Given the description of an element on the screen output the (x, y) to click on. 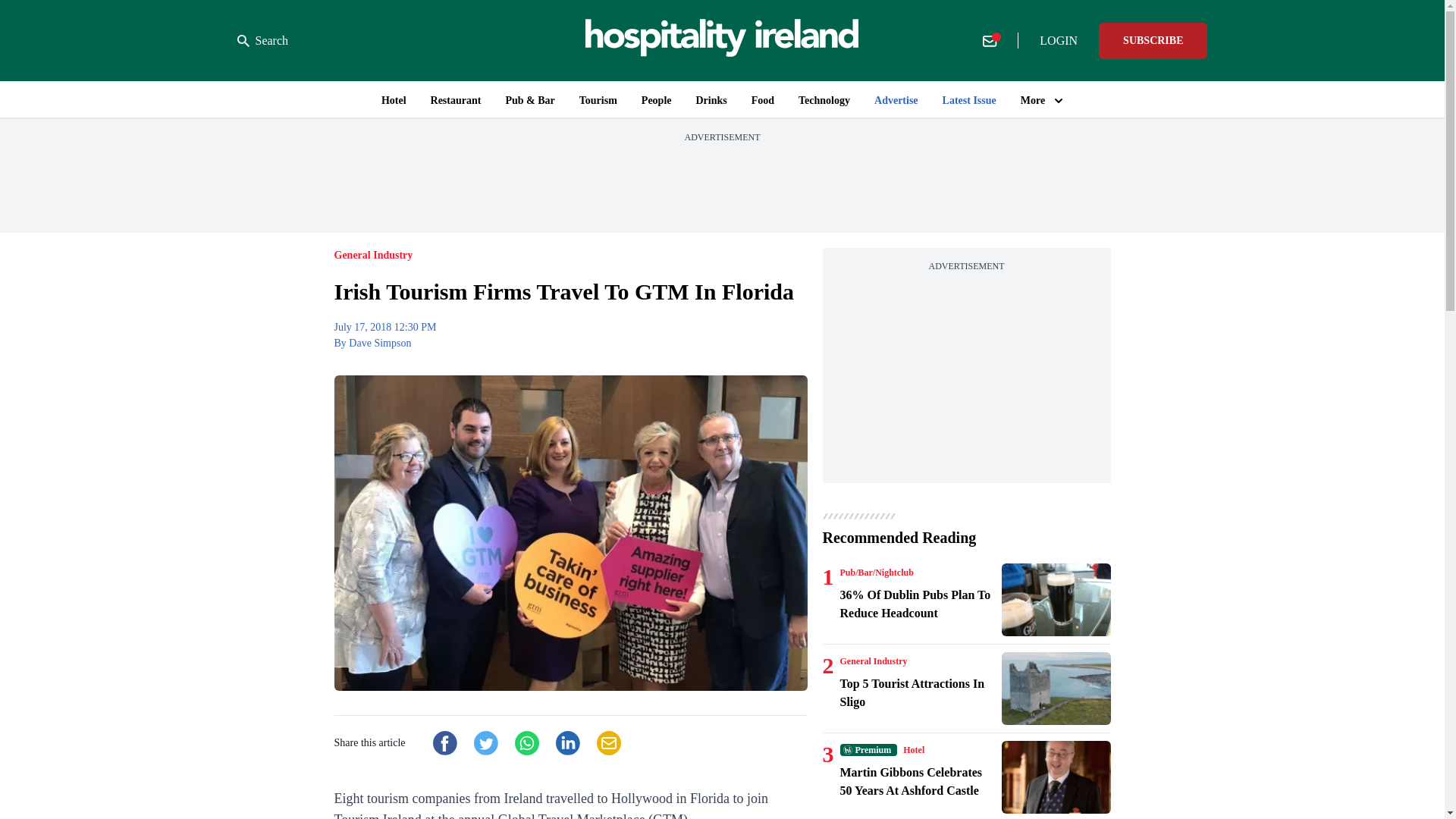
Hotel (913, 749)
Search (261, 40)
Top 5 Tourist Attractions In Sligo (1055, 687)
General Industry (873, 661)
Hospitality Ireland (722, 40)
Top 5 Tourist Attractions In Sligo (917, 692)
Martin Gibbons Celebrates 50 Years At Ashford Castle (917, 781)
